Given the description of an element on the screen output the (x, y) to click on. 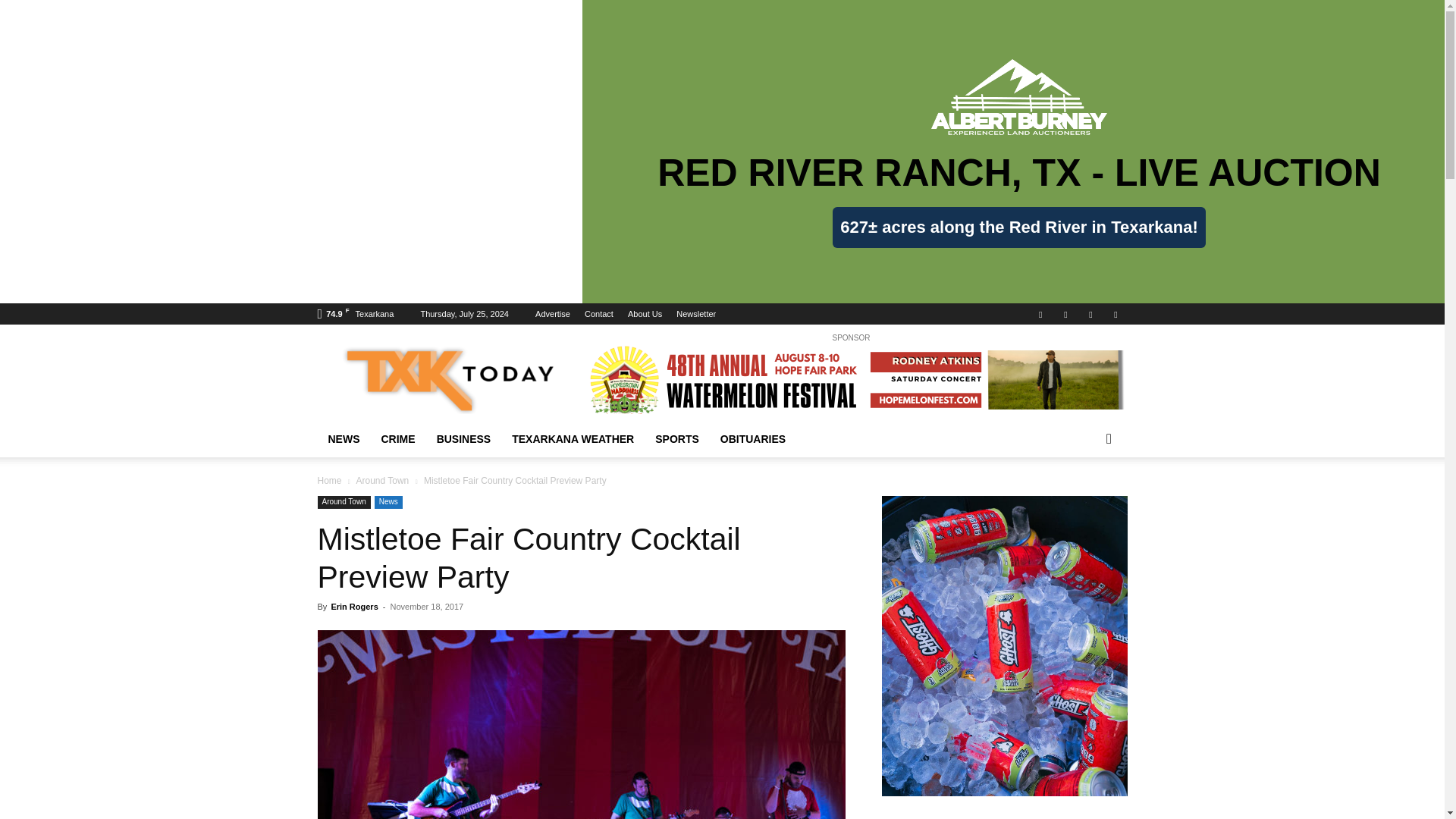
Contact (598, 313)
About Us (644, 313)
BUSINESS (464, 438)
SPORTS (677, 438)
OBITUARIES (753, 438)
Search (1085, 499)
Home (328, 480)
Texarkana News (445, 379)
View all posts in Around Town (382, 480)
CRIME (397, 438)
Newsletter (696, 313)
TXKMTF (580, 724)
Around Town (343, 502)
News (388, 502)
Around Town (382, 480)
